Given the description of an element on the screen output the (x, y) to click on. 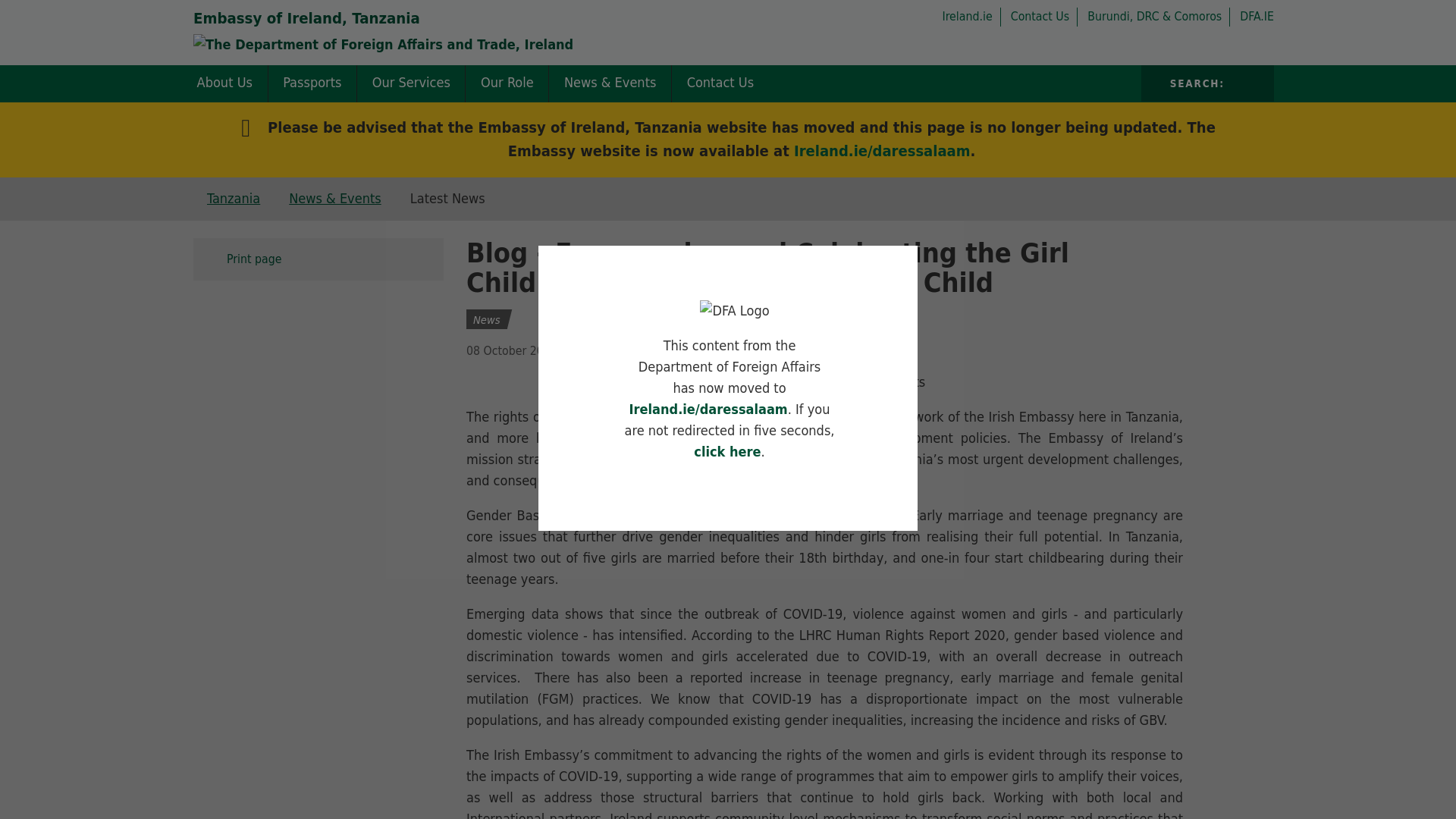
Passports (311, 83)
Our Services (410, 83)
Contact Us (1044, 16)
click here (727, 451)
Embassy of Ireland, Tanzania (306, 17)
Our Role (506, 83)
Ireland.ie (971, 16)
About Us (224, 83)
Go to Site Homepage (306, 17)
DFA home (1158, 16)
